Given the description of an element on the screen output the (x, y) to click on. 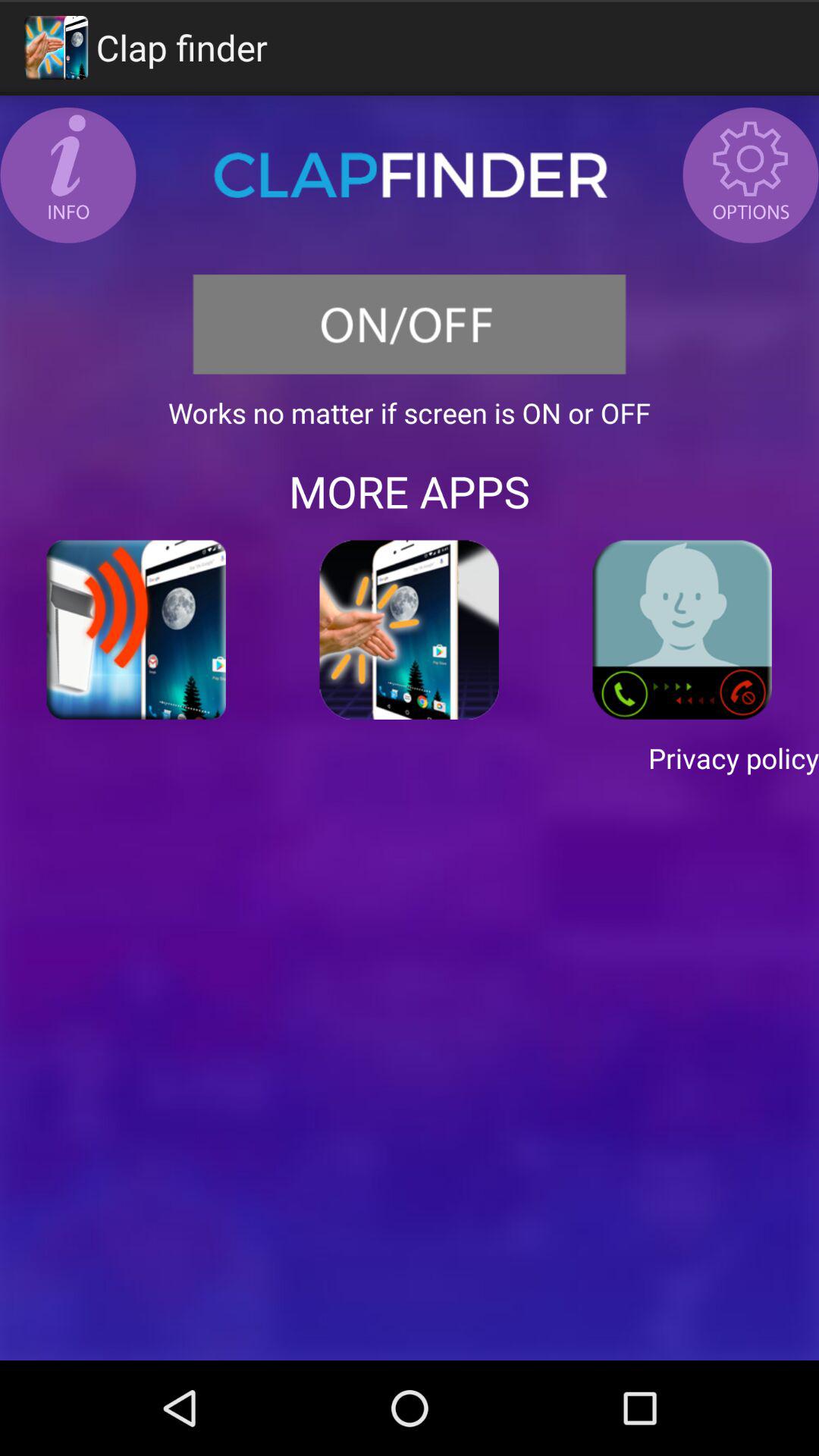
press the privacy policy icon (409, 757)
